Given the description of an element on the screen output the (x, y) to click on. 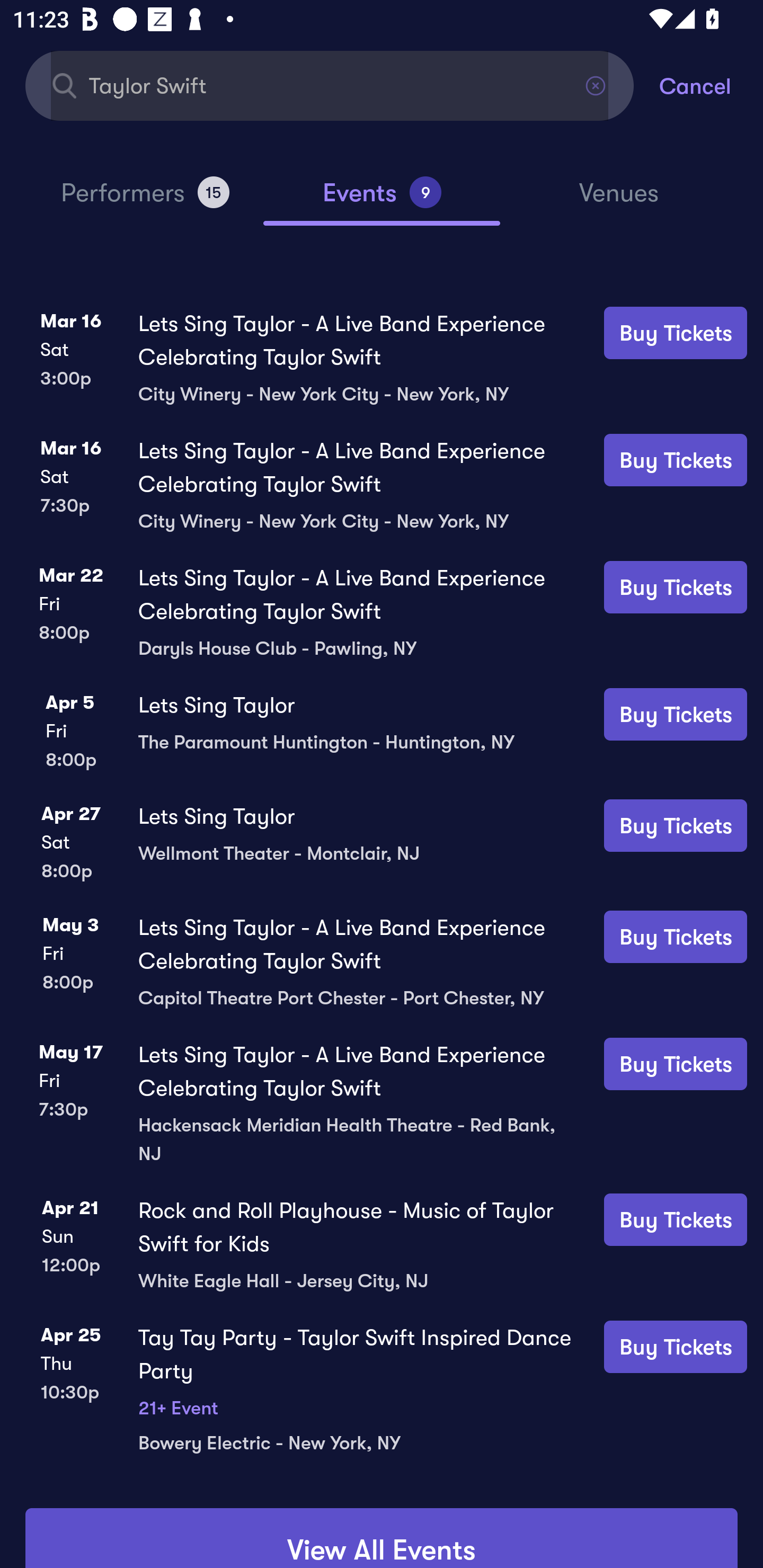
Taylor Swift Find (329, 85)
Taylor Swift Find (329, 85)
Cancel (711, 85)
Performers 15 (144, 200)
Events 9 (381, 200)
Venues (618, 201)
View All Events (381, 1538)
